Given the description of an element on the screen output the (x, y) to click on. 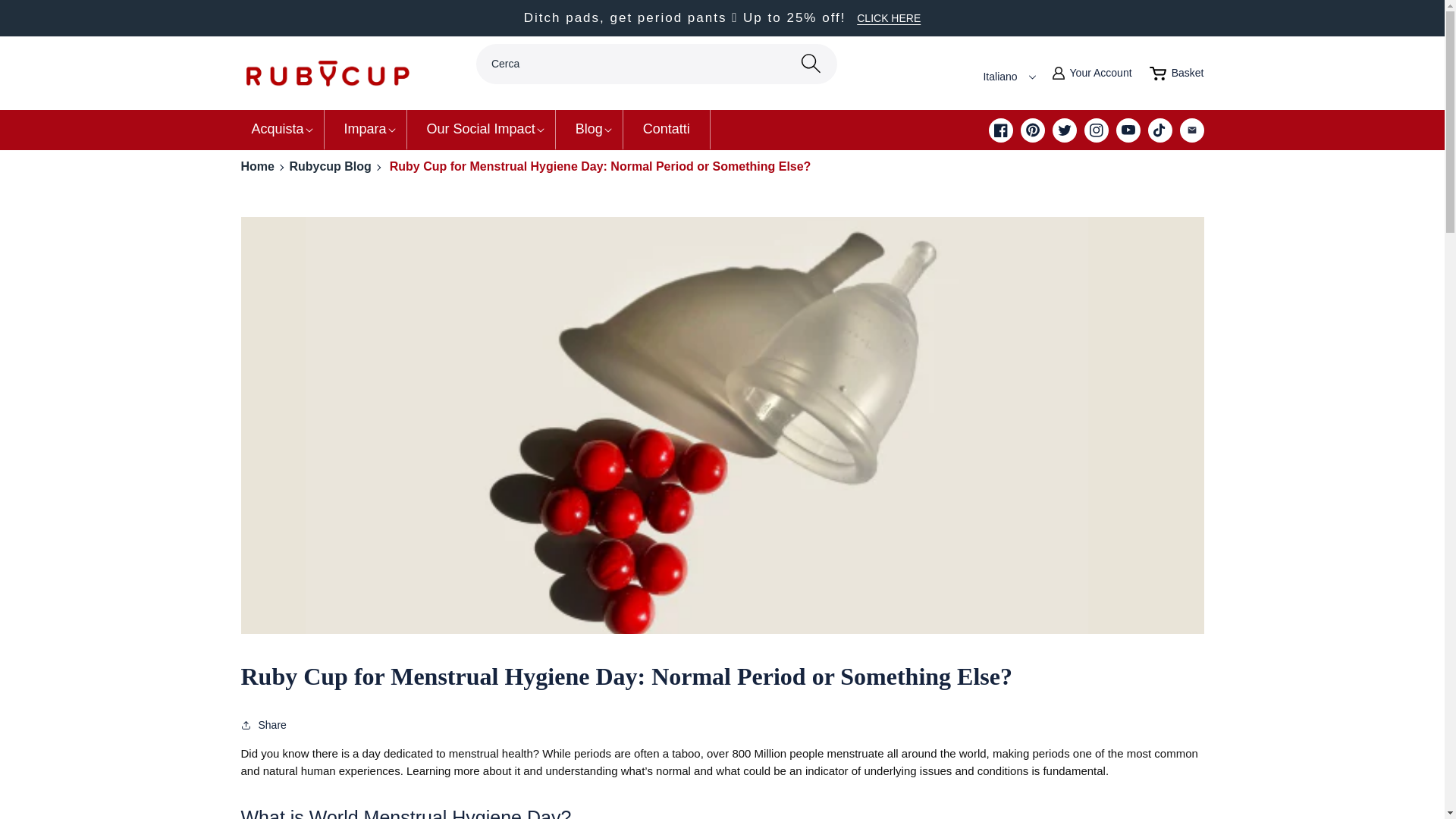
Vai direttamente ai contenuti (1092, 73)
Acquista (45, 29)
Italiano (277, 128)
CLICK HERE (1177, 73)
